Given the description of an element on the screen output the (x, y) to click on. 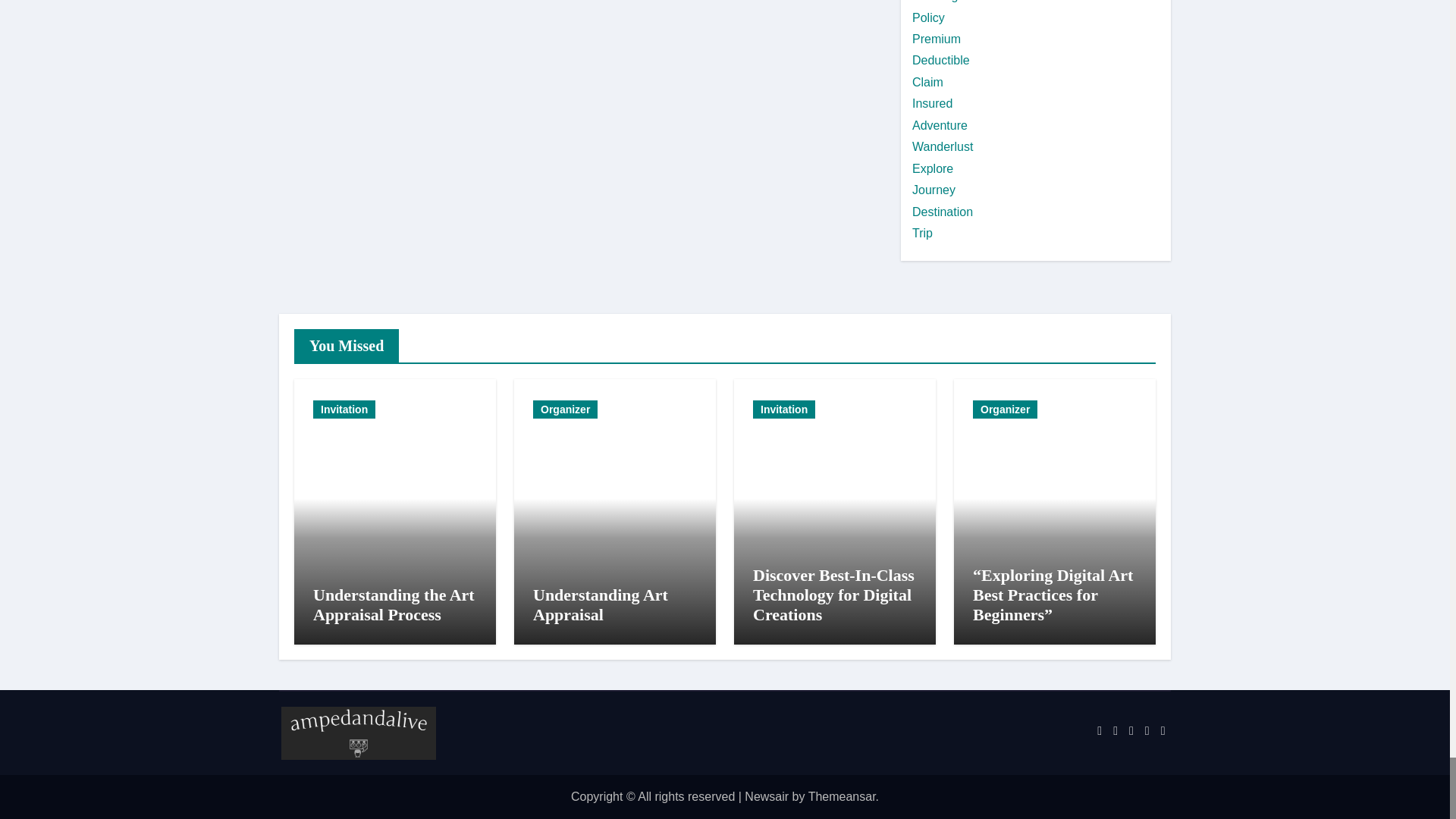
Permalink to: Understanding the Art Appraisal Process (393, 604)
